Given the description of an element on the screen output the (x, y) to click on. 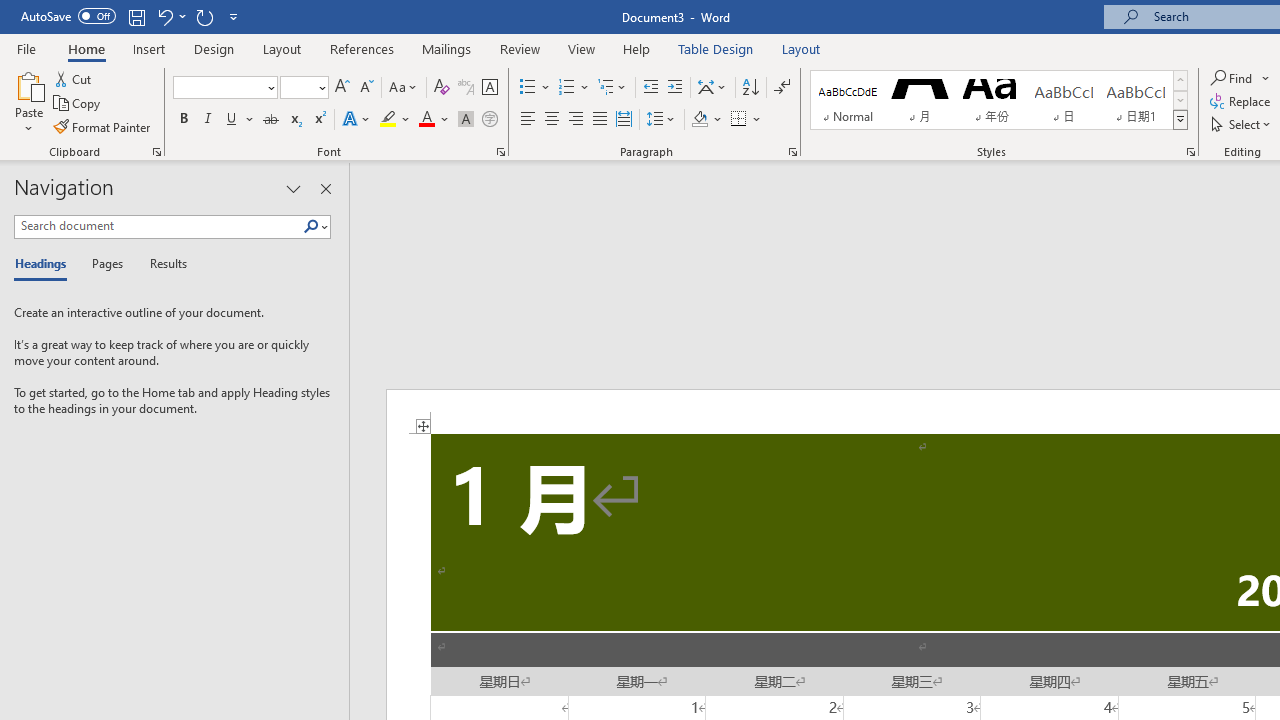
Cut (73, 78)
Font Color RGB(255, 0, 0) (426, 119)
Font... (500, 151)
Open (320, 87)
Paragraph... (792, 151)
Clear Formatting (442, 87)
Shading (706, 119)
Insert (149, 48)
Character Border (489, 87)
Bold (183, 119)
Table Design (715, 48)
Row up (1179, 79)
Justify (599, 119)
